Given the description of an element on the screen output the (x, y) to click on. 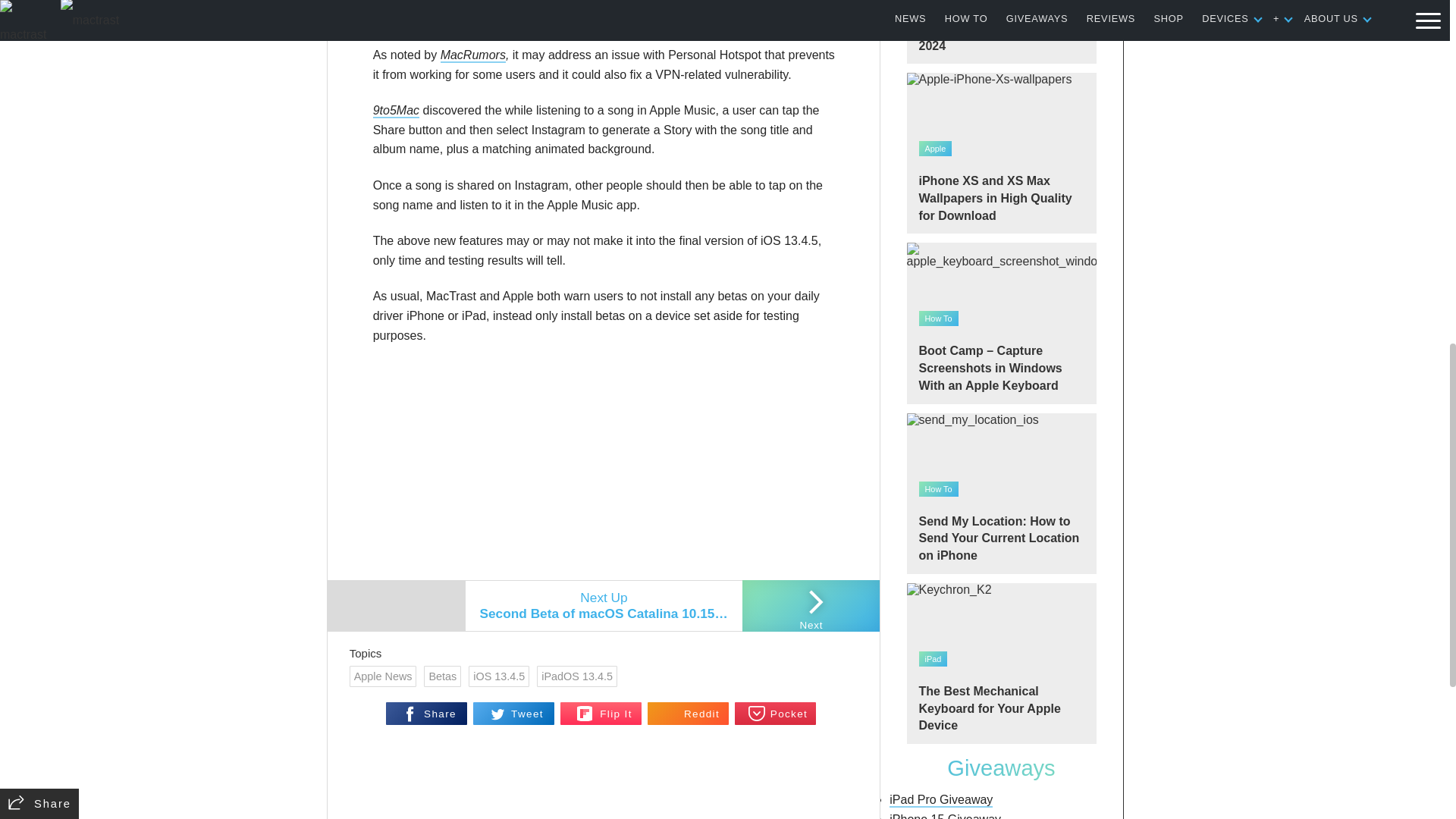
Share on Reddit (688, 712)
Apple TV Screensavers and Their Locations Identified 2024 (1001, 31)
The Best Mechanical Keyboard for Your Apple Device (1001, 663)
iPhone XS and XS Max Wallpapers in High Quality for Download (1001, 152)
Share on Facebook (426, 712)
Tweet (513, 712)
